Given the description of an element on the screen output the (x, y) to click on. 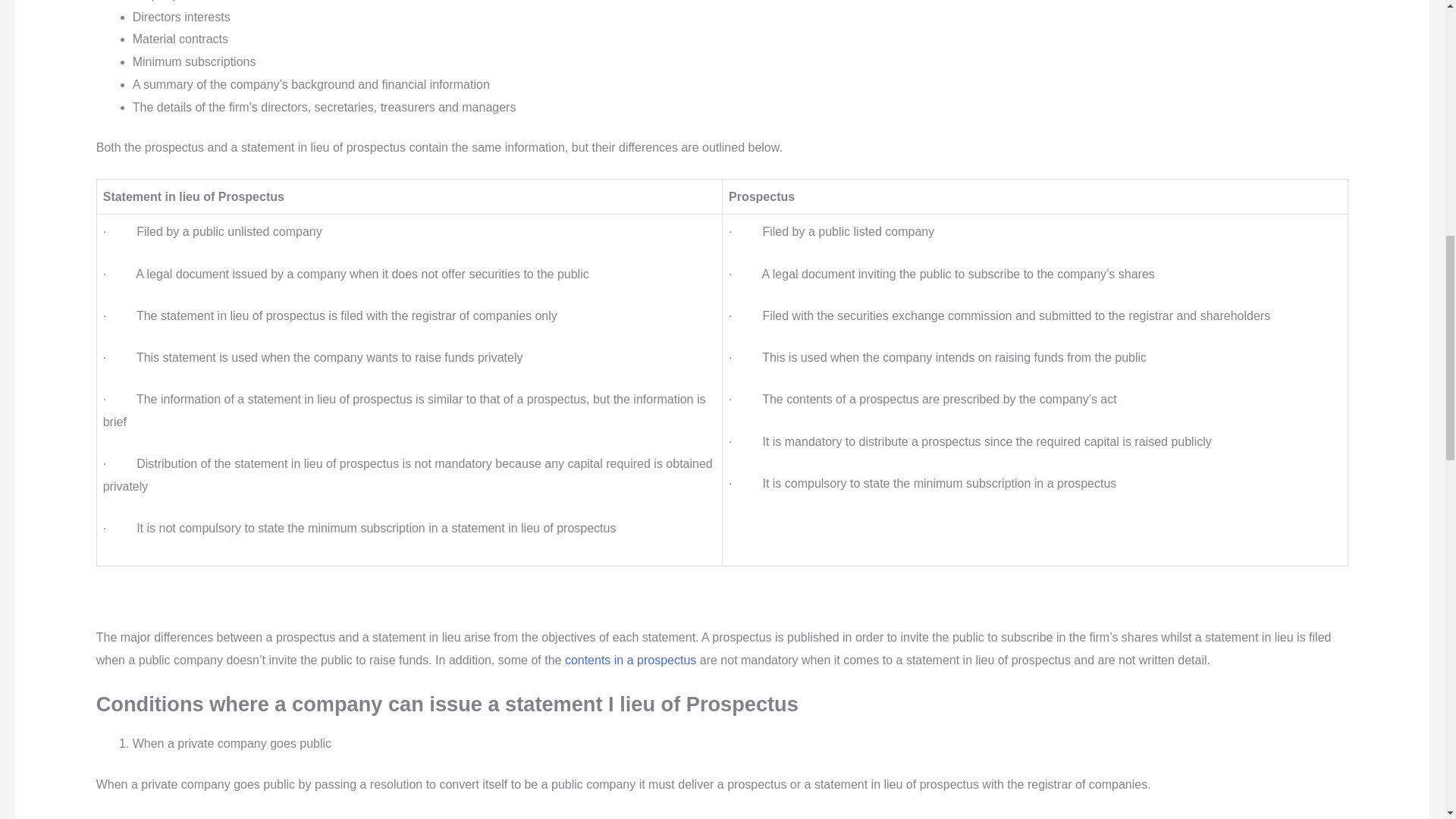
contents in a prospectus (629, 659)
